Given the description of an element on the screen output the (x, y) to click on. 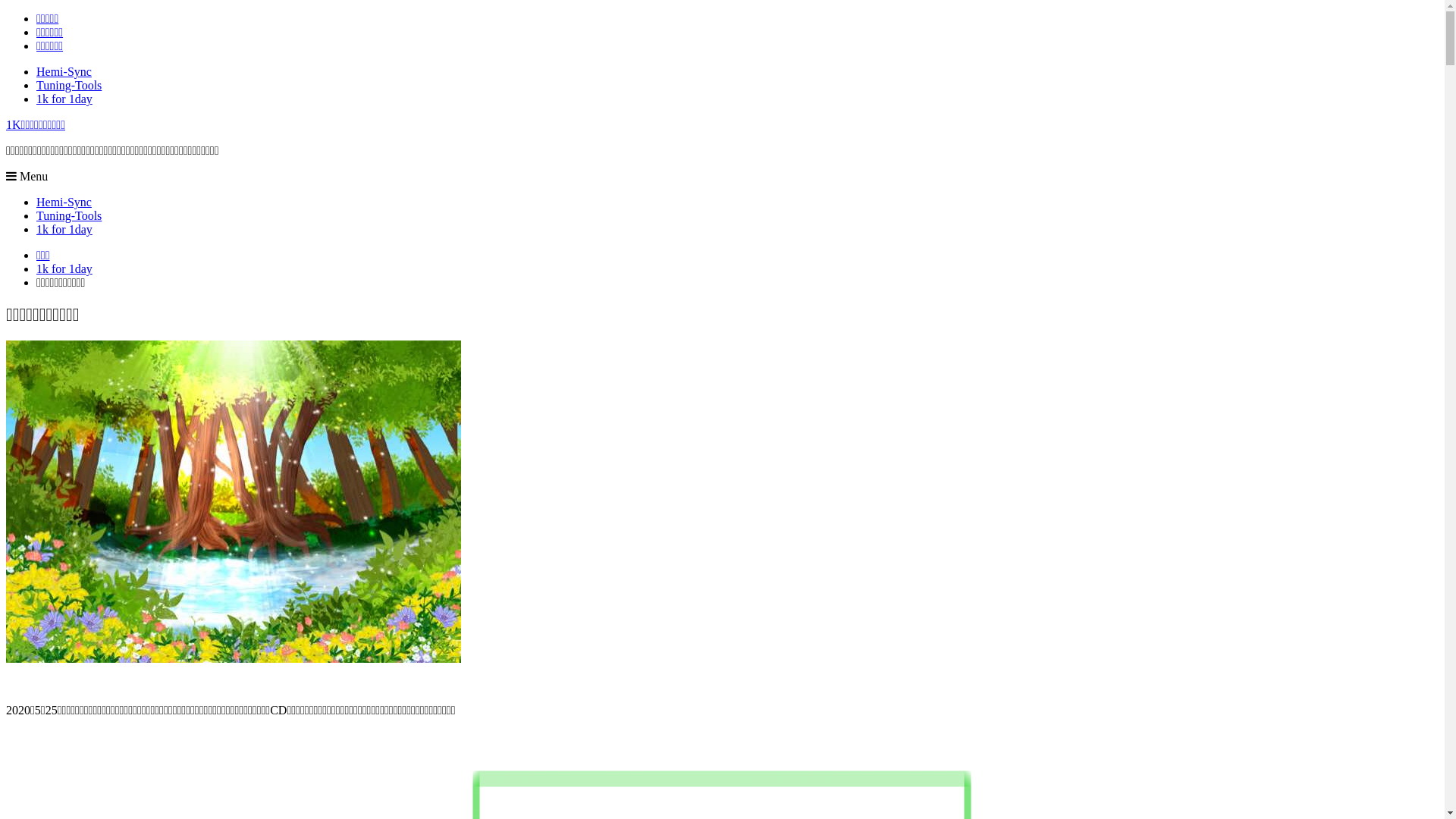
1k for 1day Element type: text (64, 268)
Tuning-Tools Element type: text (68, 215)
Hemi-Sync Element type: text (63, 201)
Hemi-Sync Element type: text (63, 71)
1k for 1day Element type: text (64, 228)
1k for 1day Element type: text (64, 98)
Tuning-Tools Element type: text (68, 84)
